Given the description of an element on the screen output the (x, y) to click on. 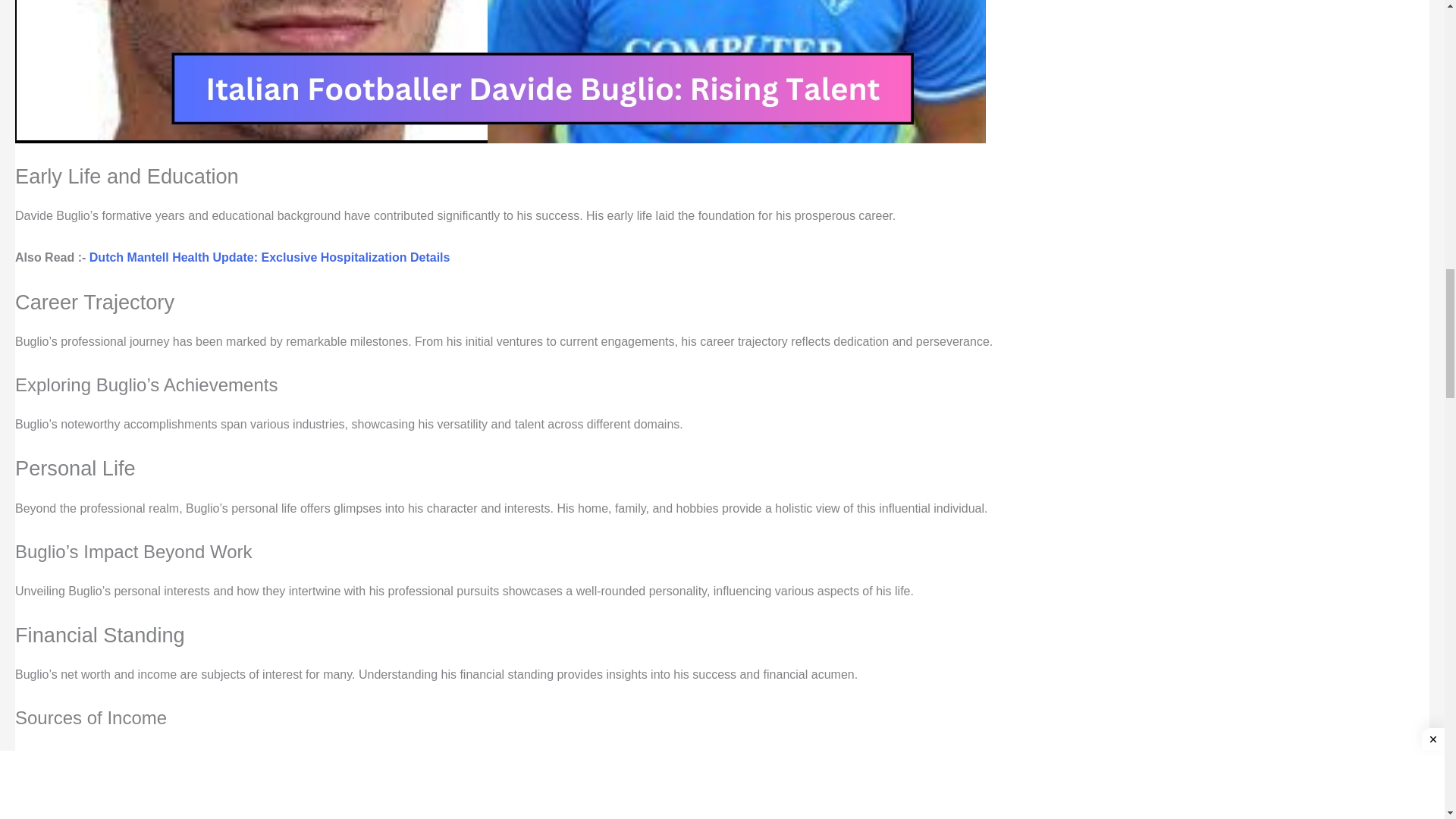
Click Here (186, 798)
